Given the description of an element on the screen output the (x, y) to click on. 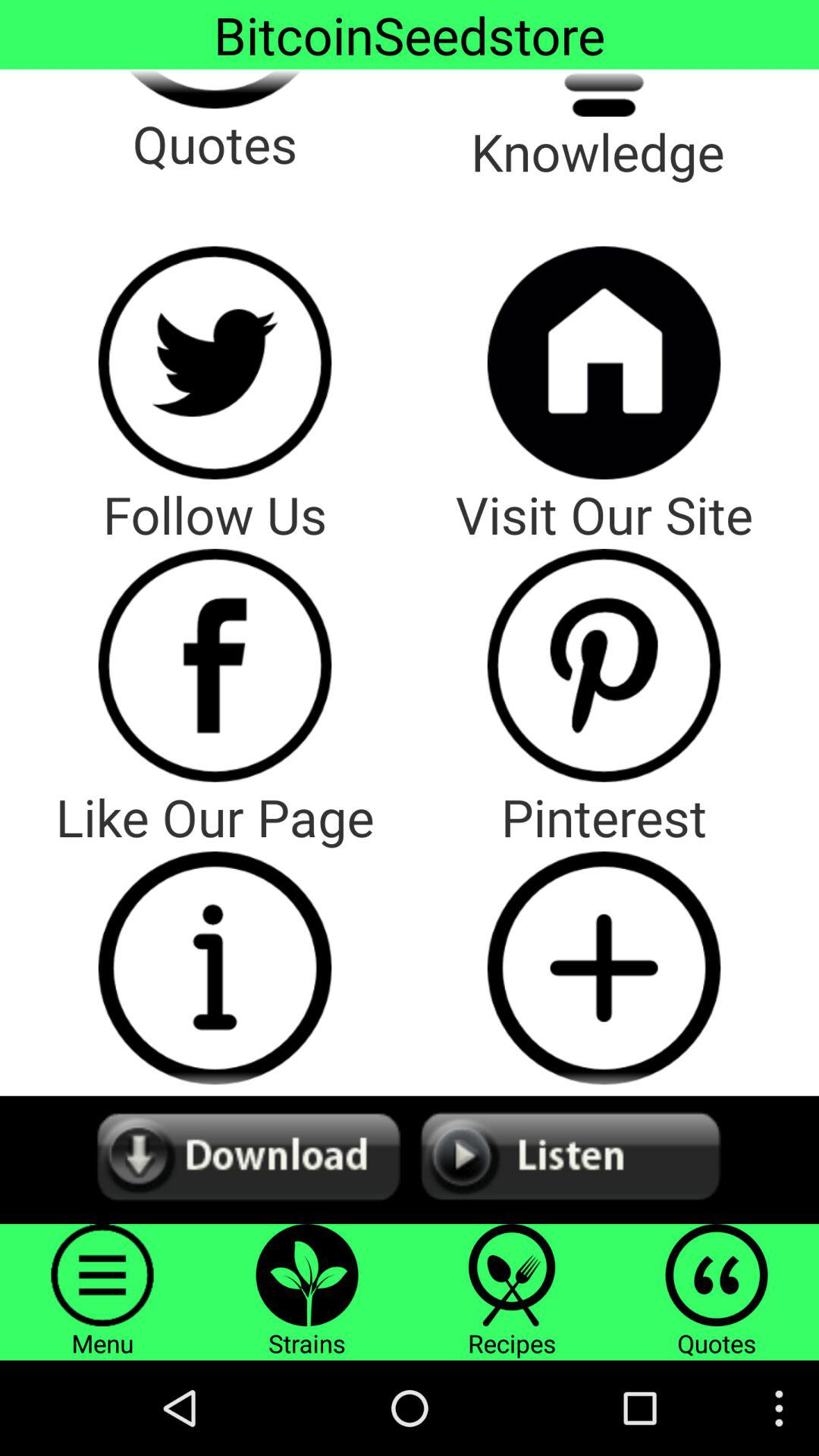
open facebook link (214, 665)
